Given the description of an element on the screen output the (x, y) to click on. 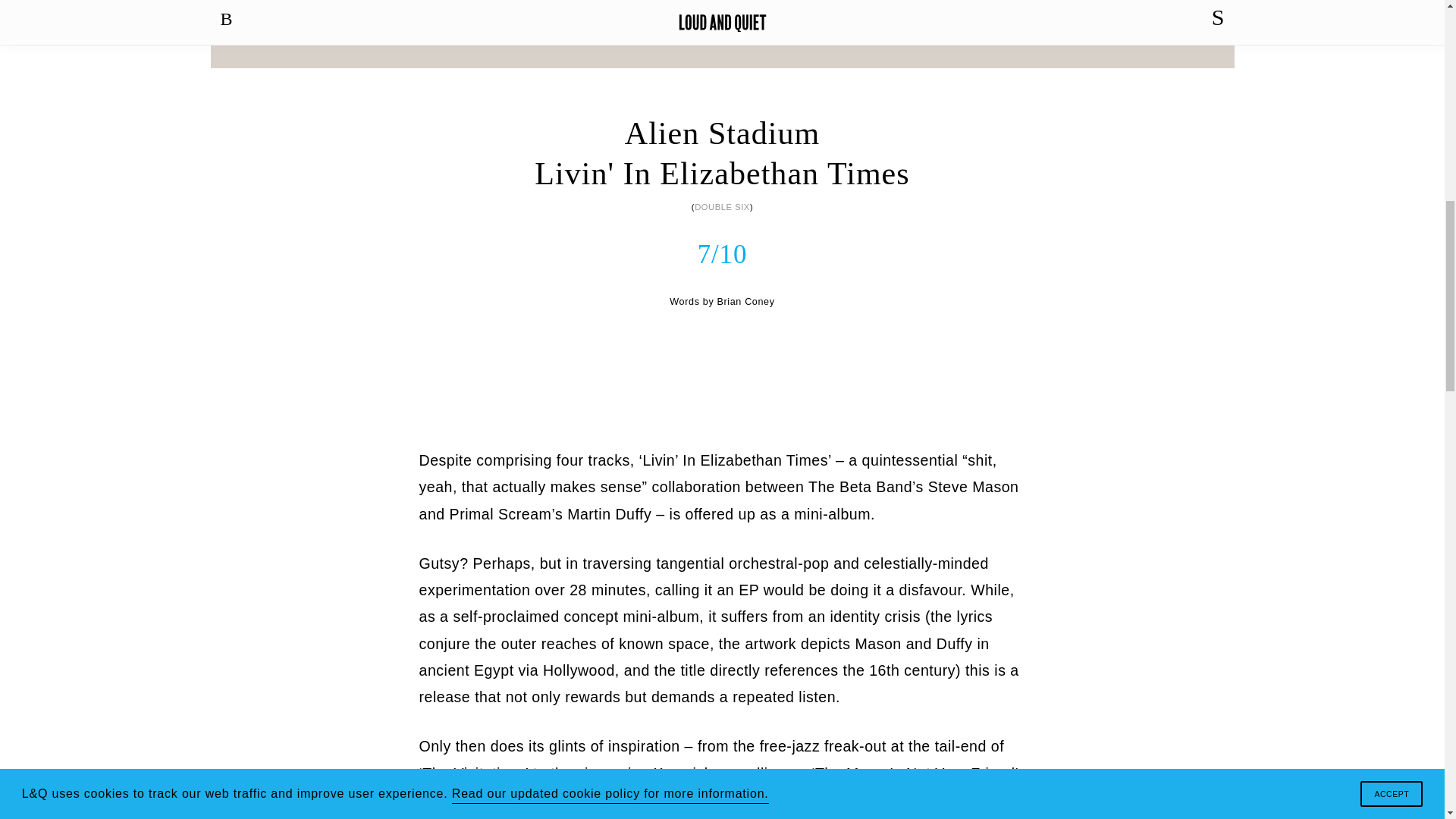
Brian Coney (745, 301)
More content by Brian Coney (745, 301)
DOUBLE SIX (721, 206)
Double Six (721, 206)
